Given the description of an element on the screen output the (x, y) to click on. 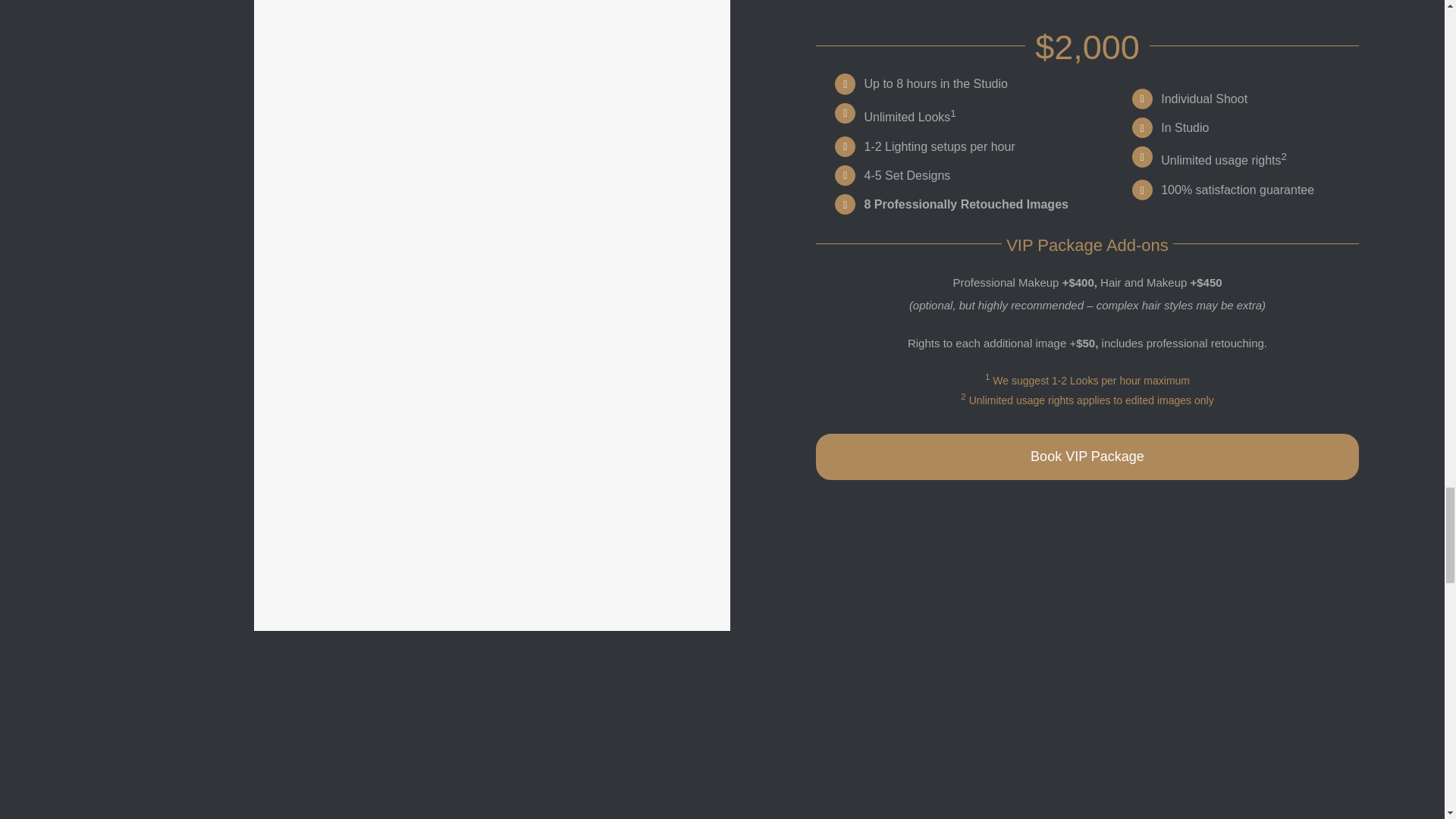
Book VIP Package (1086, 456)
